Given the description of an element on the screen output the (x, y) to click on. 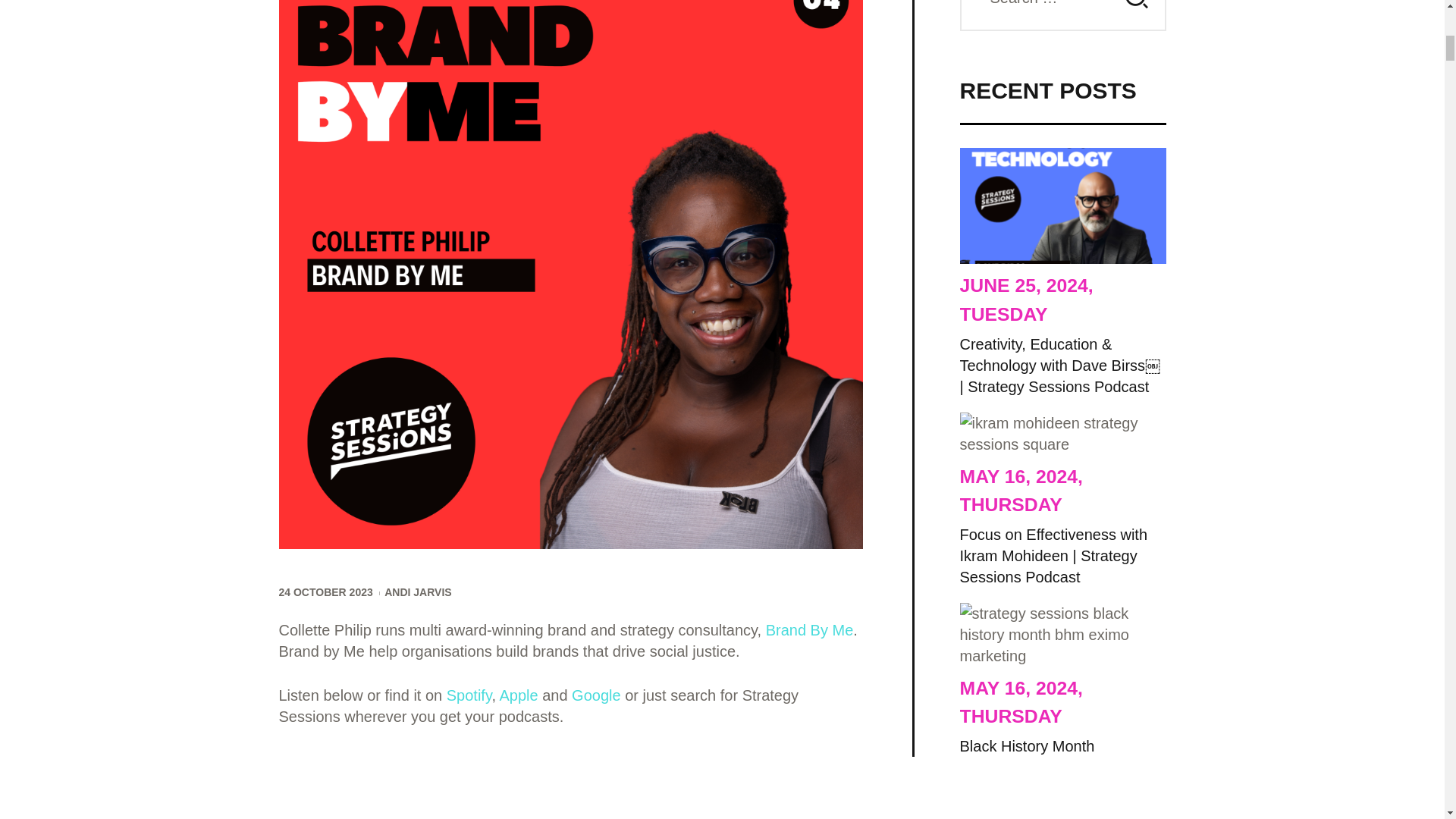
Brand By Me (809, 629)
Google (596, 695)
ANDI JARVIS (417, 593)
Spotify (469, 695)
Search (1134, 15)
Search (1134, 15)
Apple (518, 695)
